Given the description of an element on the screen output the (x, y) to click on. 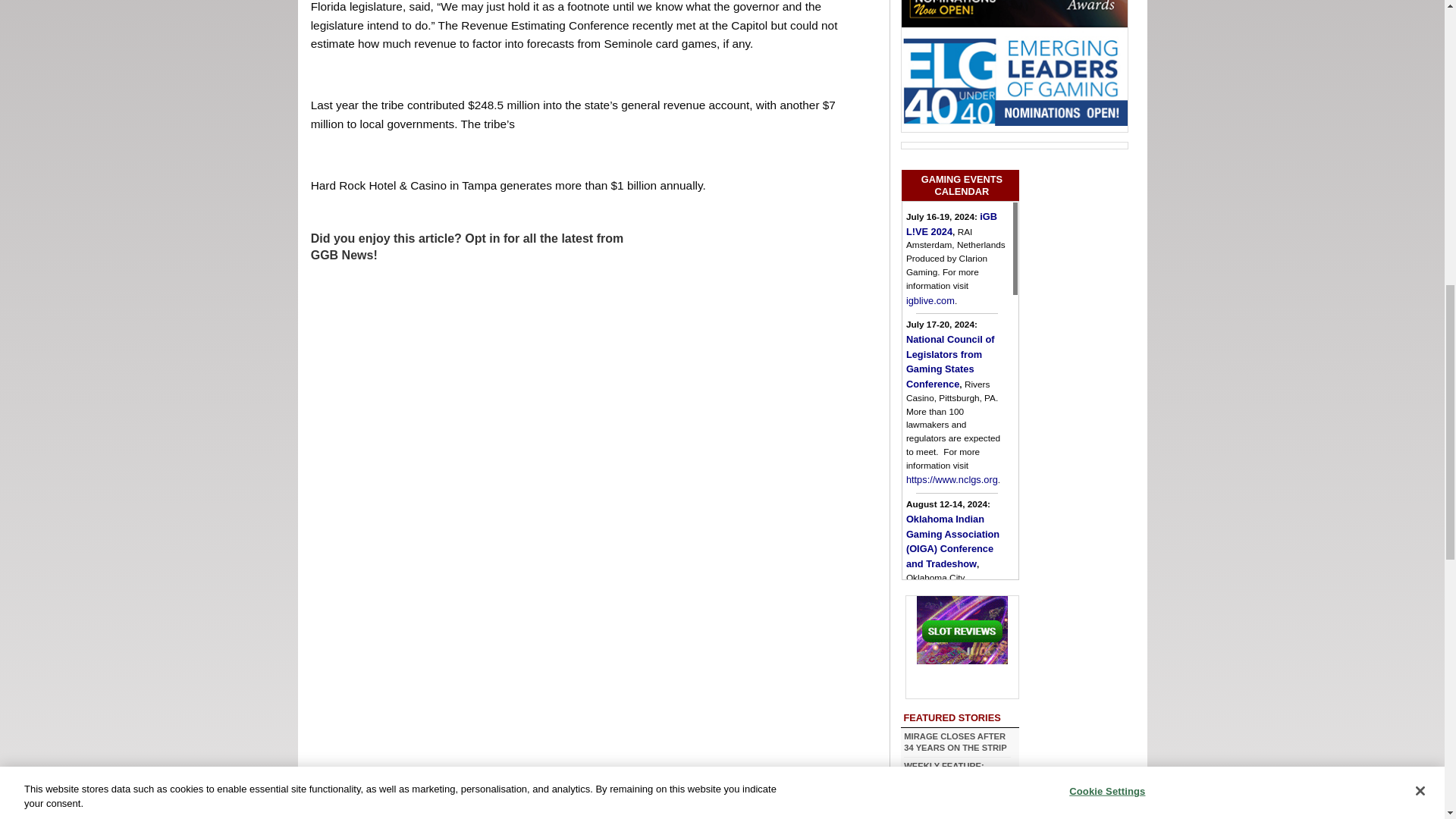
The Racing and Gaming Conference at Saratoga (972, 783)
National Council of Legislators from Gaming States (951, 479)
The Racing and Gaming Conference at Saratoga (951, 700)
Form (470, 409)
GAMING EVENTS CALENDAR (960, 184)
National Council of Legislators from Gaming States (949, 361)
iGB L!VE 2024 (951, 223)
iGB L!VE 2024 (951, 223)
igblive.com (930, 299)
iGB L!VE 2024 (930, 299)
Emerging Leaders of Gaming Nominations (1013, 81)
